Given the description of an element on the screen output the (x, y) to click on. 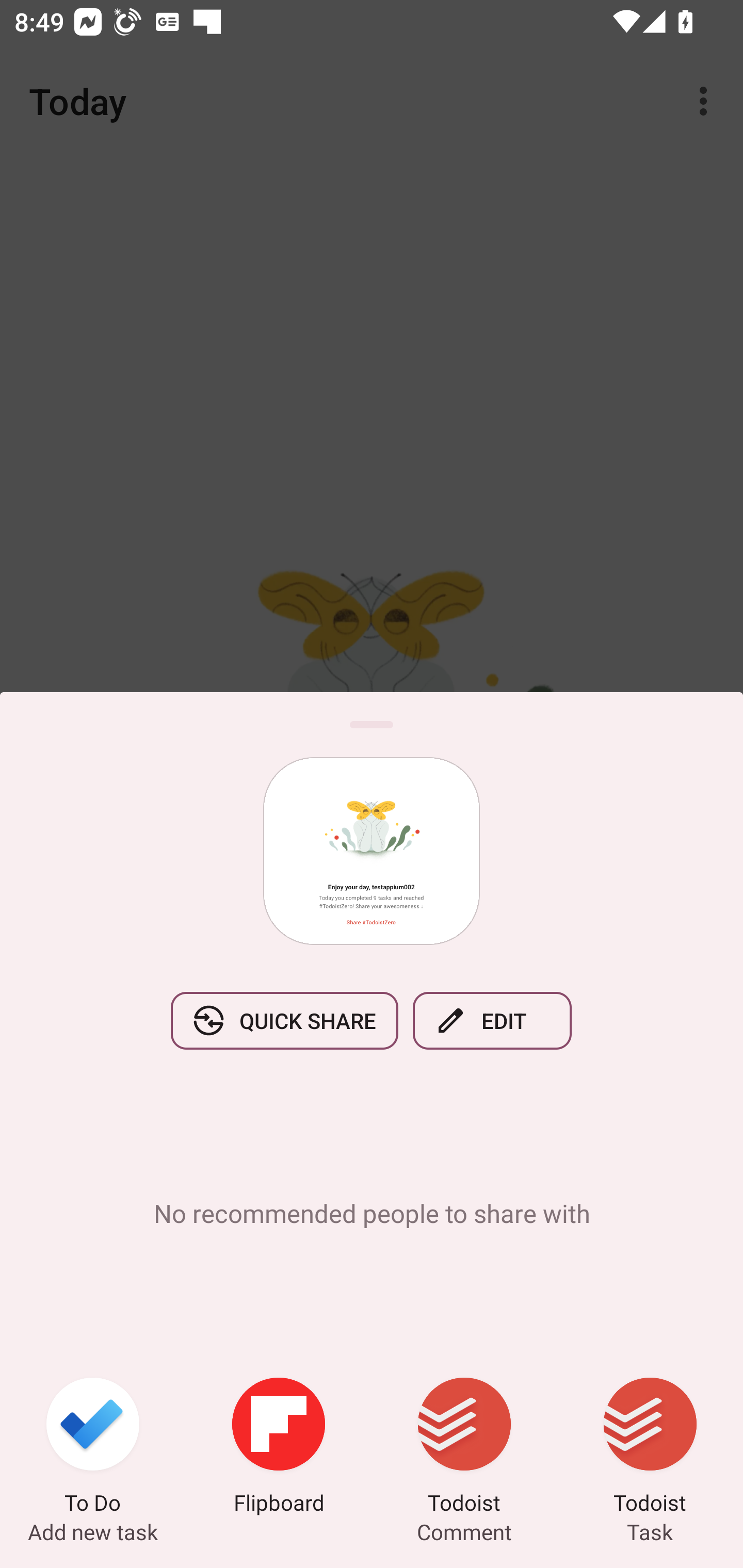
QUICK SHARE (284, 1020)
EDIT (492, 1020)
To Do Add new task (92, 1448)
Flipboard (278, 1448)
Todoist Comment (464, 1448)
Todoist Task (650, 1448)
